Given the description of an element on the screen output the (x, y) to click on. 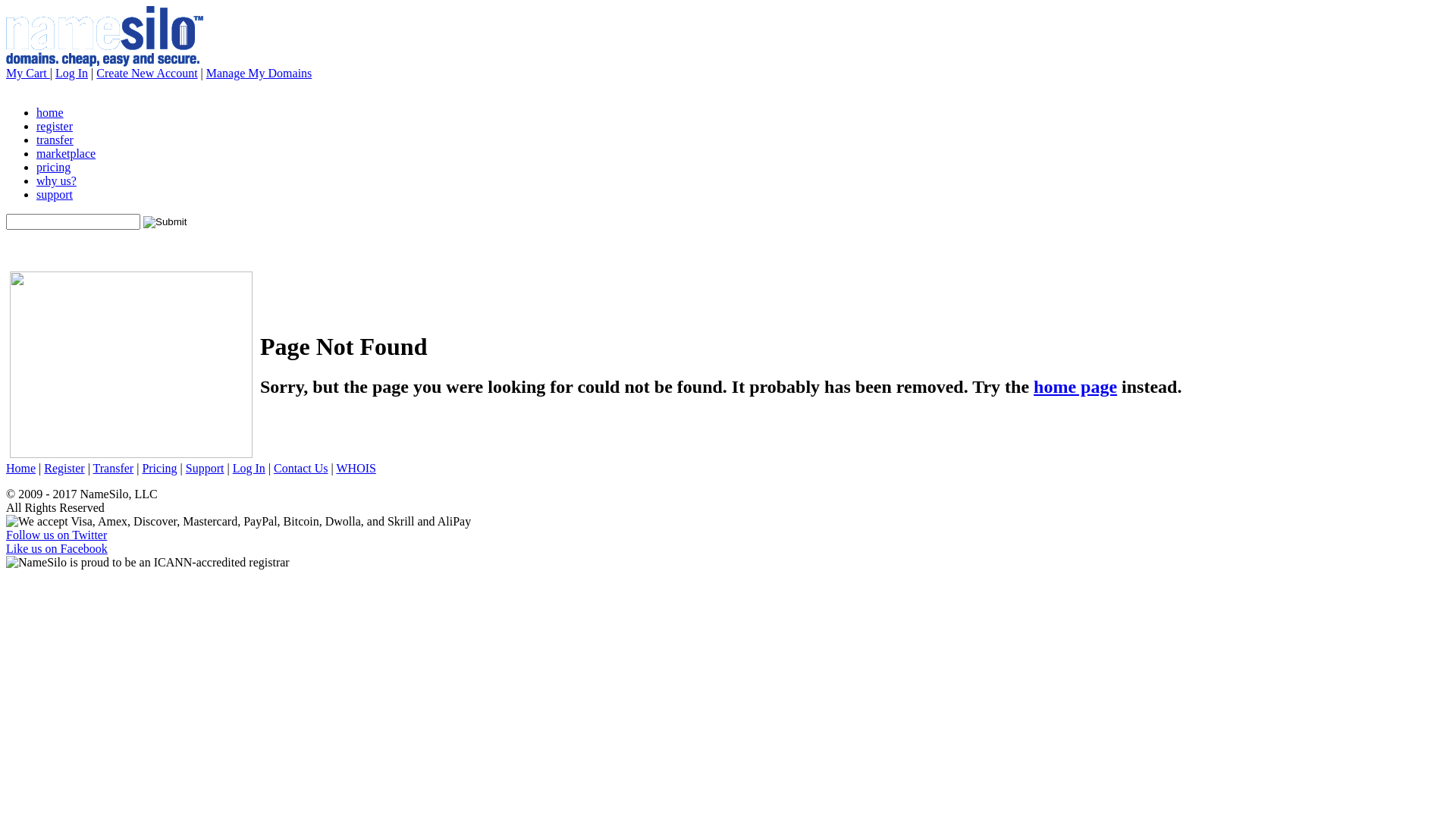
transfer Element type: text (54, 139)
My Cart Element type: text (28, 72)
Create New Account Element type: text (146, 72)
Like us on Facebook Element type: text (56, 548)
WHOIS Element type: text (355, 467)
home Element type: text (49, 112)
Pricing Element type: text (158, 467)
Log In Element type: text (248, 467)
Follow us on Twitter Element type: text (56, 534)
marketplace Element type: text (65, 153)
pricing Element type: text (53, 166)
Log In Element type: text (71, 72)
home page Element type: text (1075, 386)
Support Element type: text (204, 467)
Home Element type: text (20, 467)
NameSilo is proud to be an ICANN-accredited registrar Element type: hover (147, 562)
Manage My Domains Element type: text (259, 72)
register Element type: text (54, 125)
Register Element type: text (63, 467)
Transfer Element type: text (113, 467)
Contact Us Element type: text (300, 467)
why us? Element type: text (56, 180)
support Element type: text (54, 194)
